Given the description of an element on the screen output the (x, y) to click on. 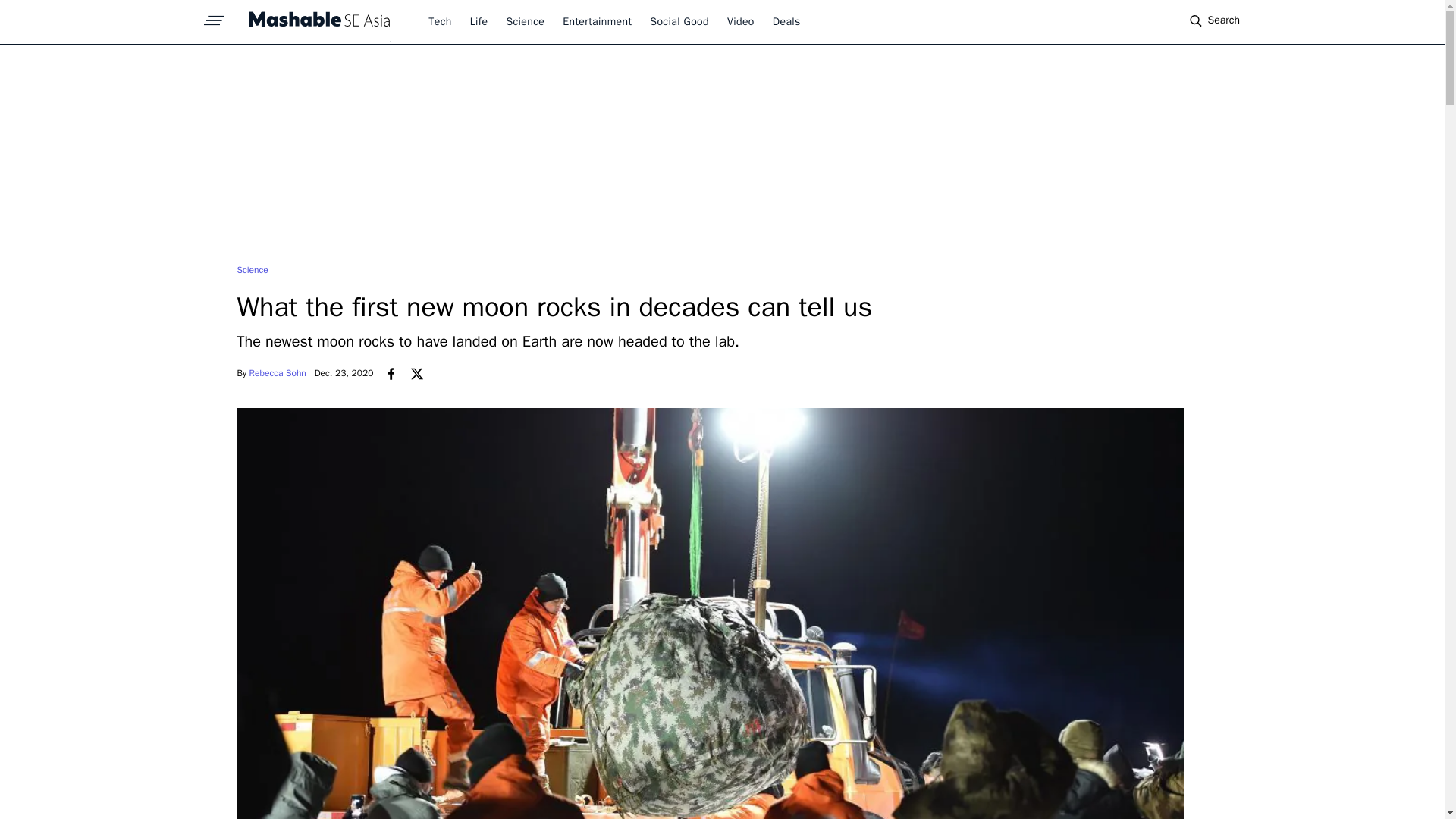
Video (740, 21)
sprite-hamburger (213, 16)
Science (251, 269)
Science (524, 21)
Tech (439, 21)
Science (251, 269)
Social Good (679, 21)
Life (478, 21)
Rebecca Sohn (276, 372)
Deals (786, 21)
Entertainment (596, 21)
